Given the description of an element on the screen output the (x, y) to click on. 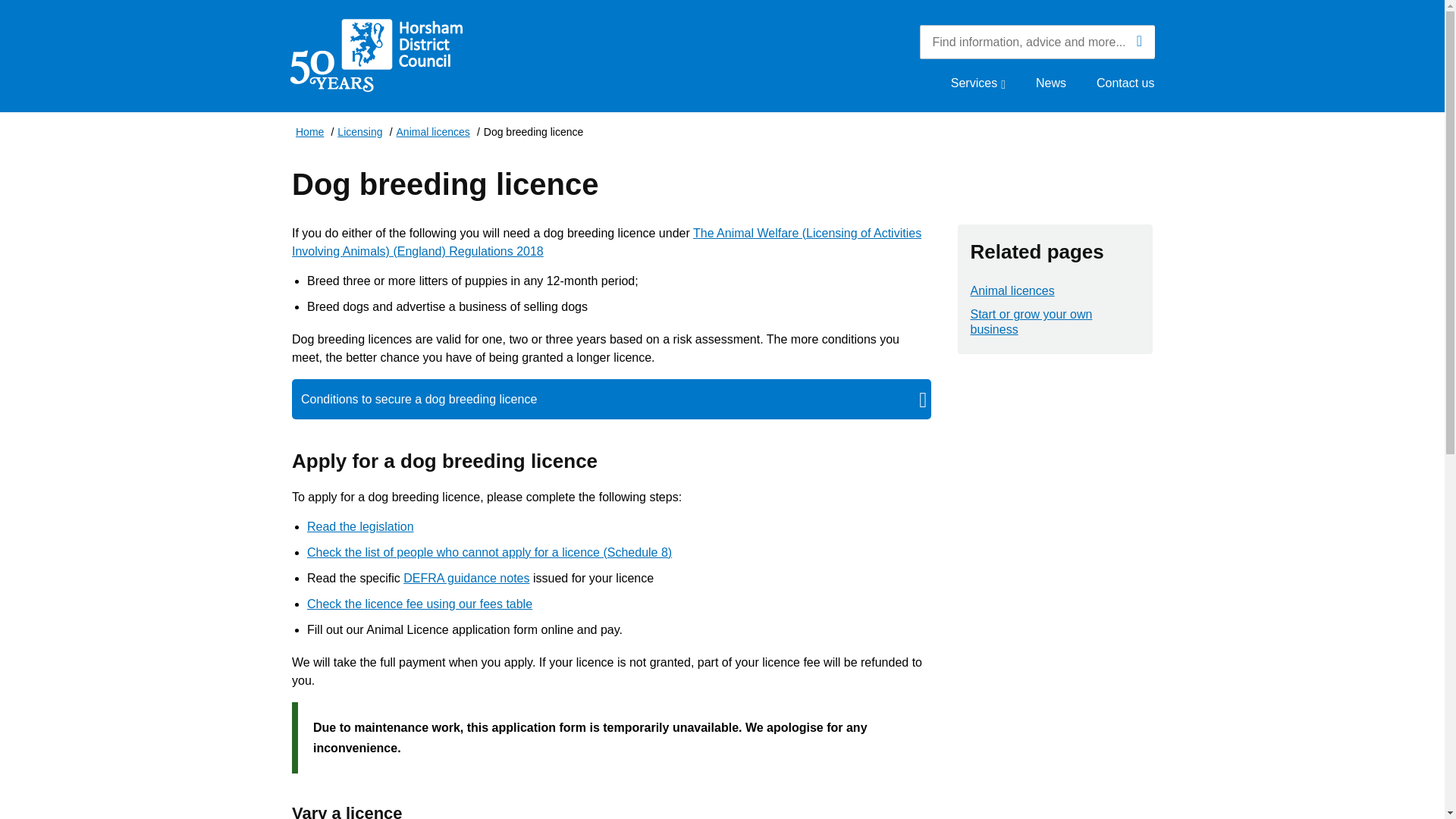
DEFRA guidance notes (466, 577)
Services (978, 82)
Conditions to secure a dog breeding licence (427, 399)
News (1050, 82)
Animal licences (433, 133)
Licensing (359, 133)
Check the licence fee using our fees table (419, 603)
SEARCH (1139, 41)
Animal licences (1012, 290)
Home (309, 133)
Contact us (1125, 82)
Start or grow your own business (1055, 322)
Read the legislation (360, 526)
